Given the description of an element on the screen output the (x, y) to click on. 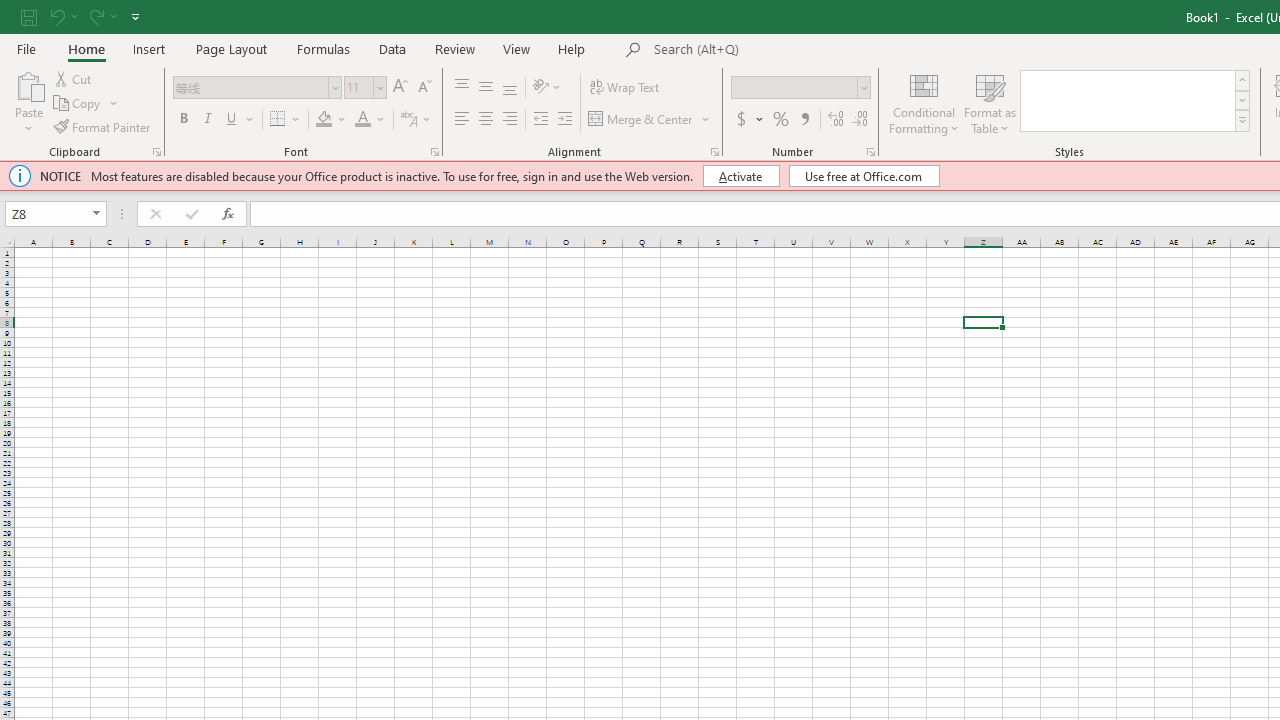
Number Format (794, 87)
Decrease Decimal (859, 119)
Number Format (800, 87)
Font Size (365, 87)
Merge & Center (641, 119)
Accounting Number Format (741, 119)
Bold (183, 119)
Format Painter (103, 126)
Underline (239, 119)
Merge & Center (649, 119)
Paste (28, 84)
Row Down (1242, 100)
Decrease Indent (540, 119)
